Given the description of an element on the screen output the (x, y) to click on. 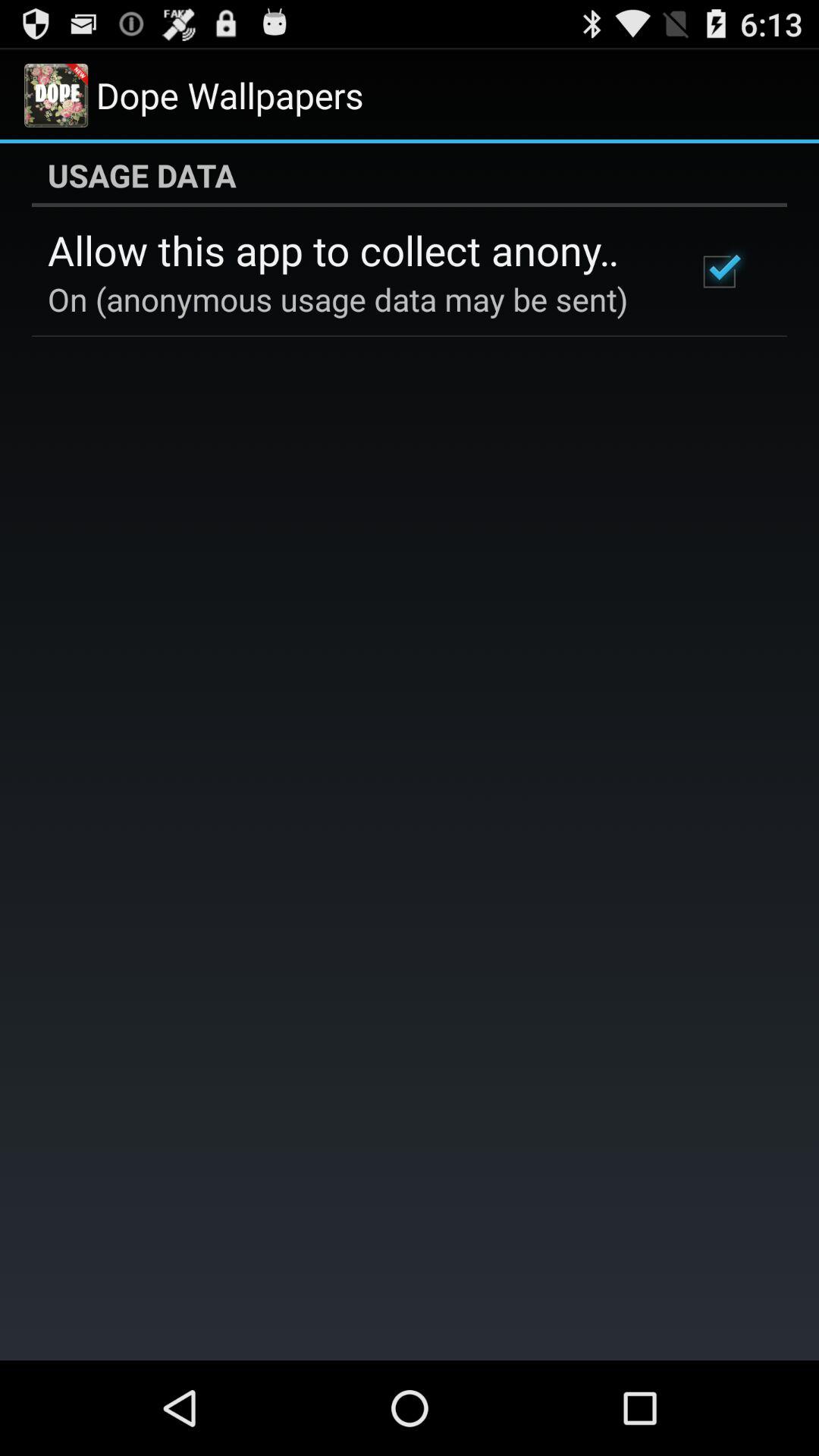
tap the icon above the on anonymous usage icon (351, 249)
